Given the description of an element on the screen output the (x, y) to click on. 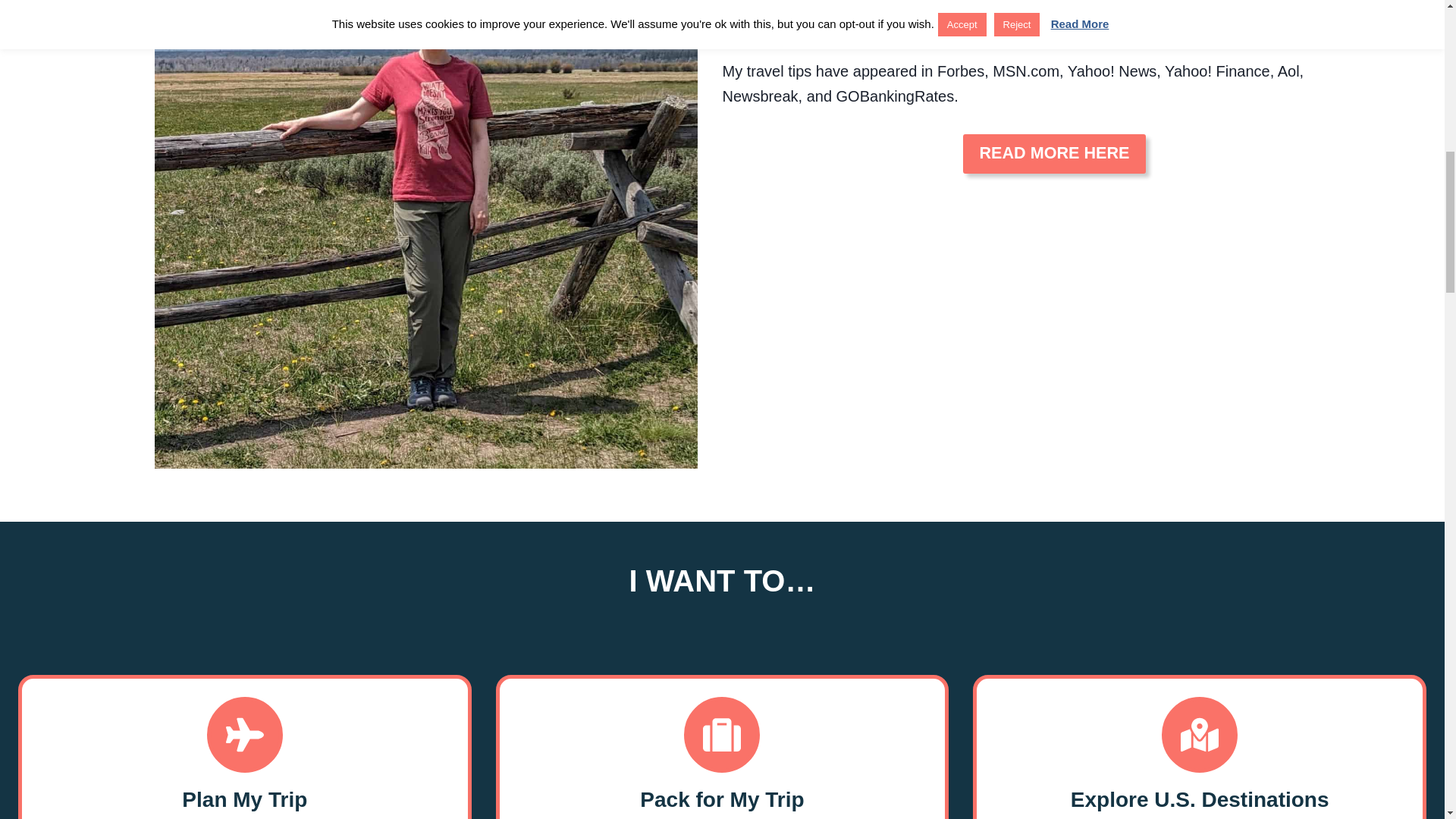
READ MORE HERE (1053, 153)
